Given the description of an element on the screen output the (x, y) to click on. 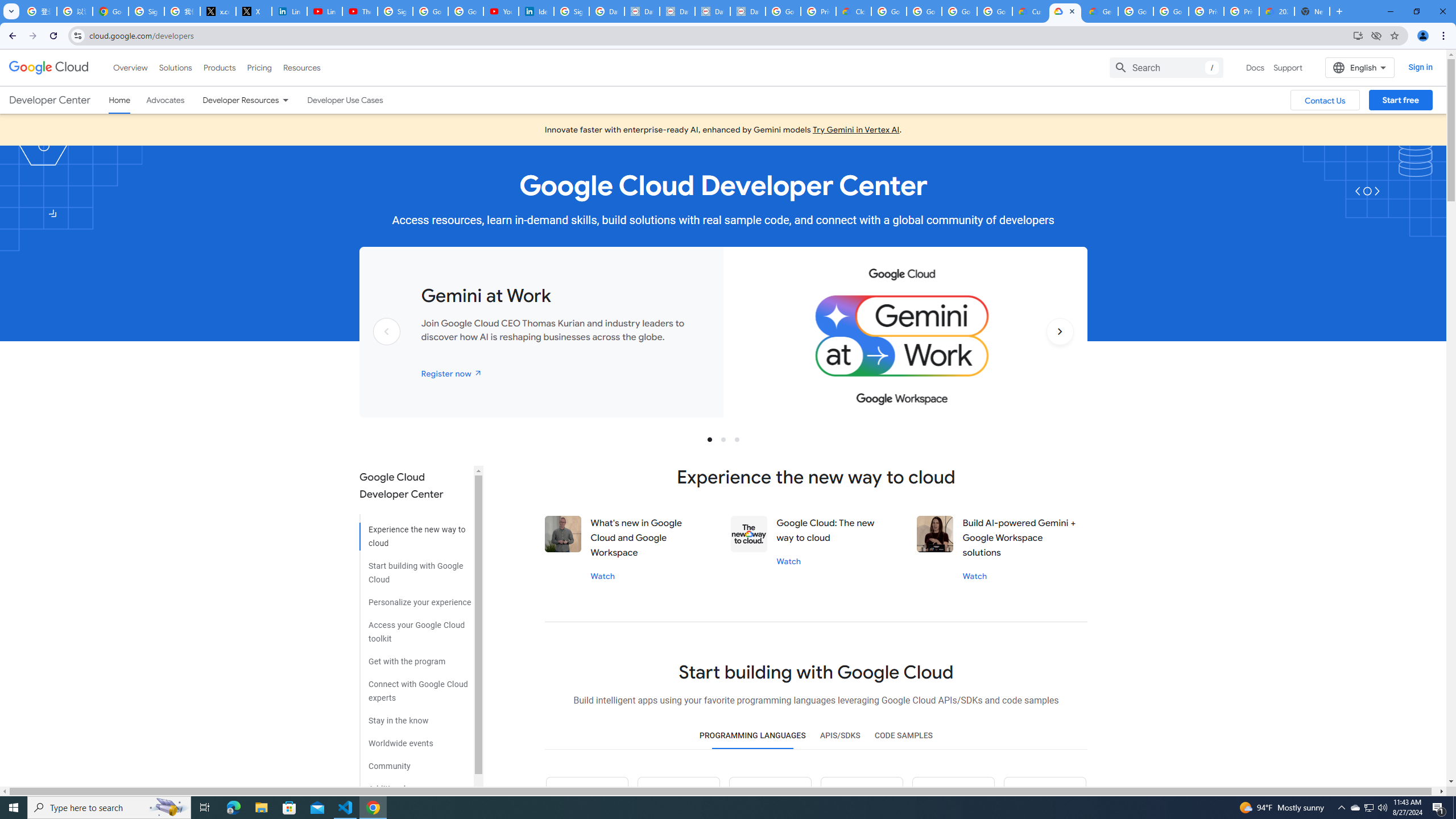
LinkedIn - YouTube (324, 11)
Additional resources (415, 784)
Stephanie wong's interview session (935, 533)
APIS/SDKS (839, 735)
Worldwide events (415, 739)
Resources (301, 67)
Data value (748, 533)
Next slide (1059, 349)
